Given the description of an element on the screen output the (x, y) to click on. 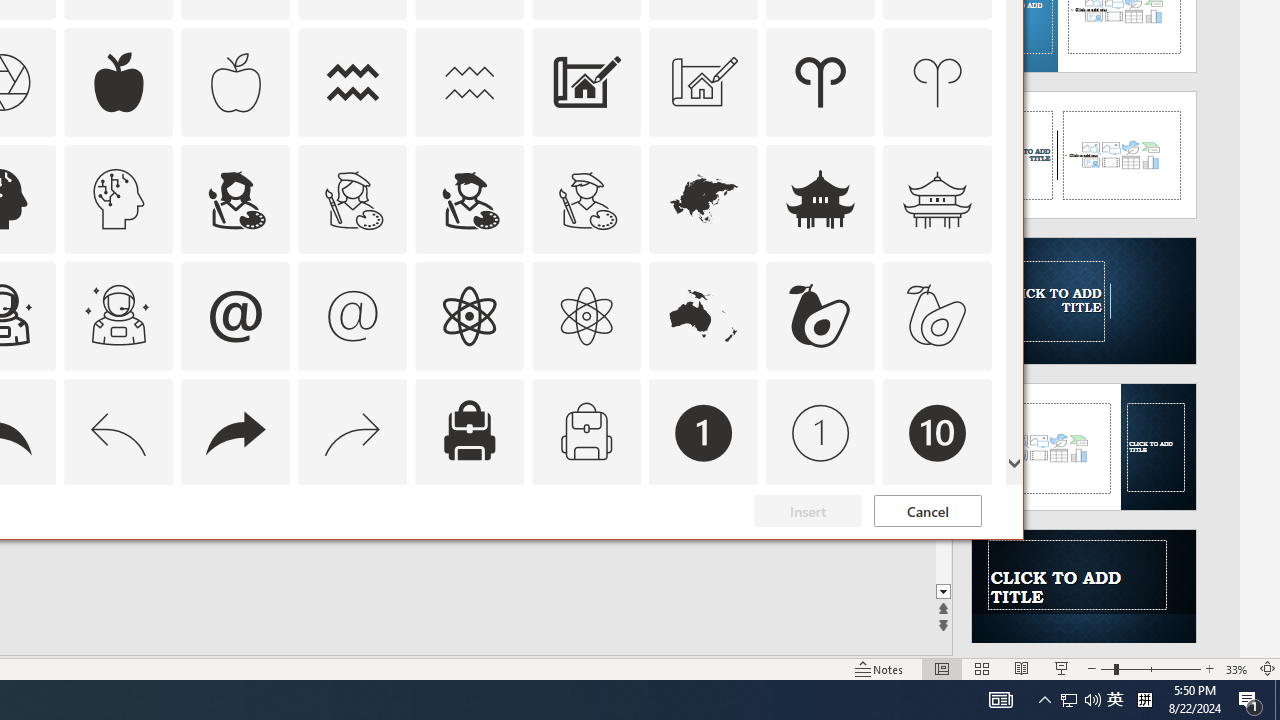
AutomationID: Icons_Back_LTR_M (118, 432)
AutomationID: Icons_ArtistFemale (235, 198)
AutomationID: Icons_Badge6_M (235, 550)
AutomationID: Icons_Aquarius (353, 82)
AutomationID: Icons_Australia (703, 316)
AutomationID: Icons_Badge1_M (820, 432)
AutomationID: Icons_Badge8_M (703, 550)
